Given the description of an element on the screen output the (x, y) to click on. 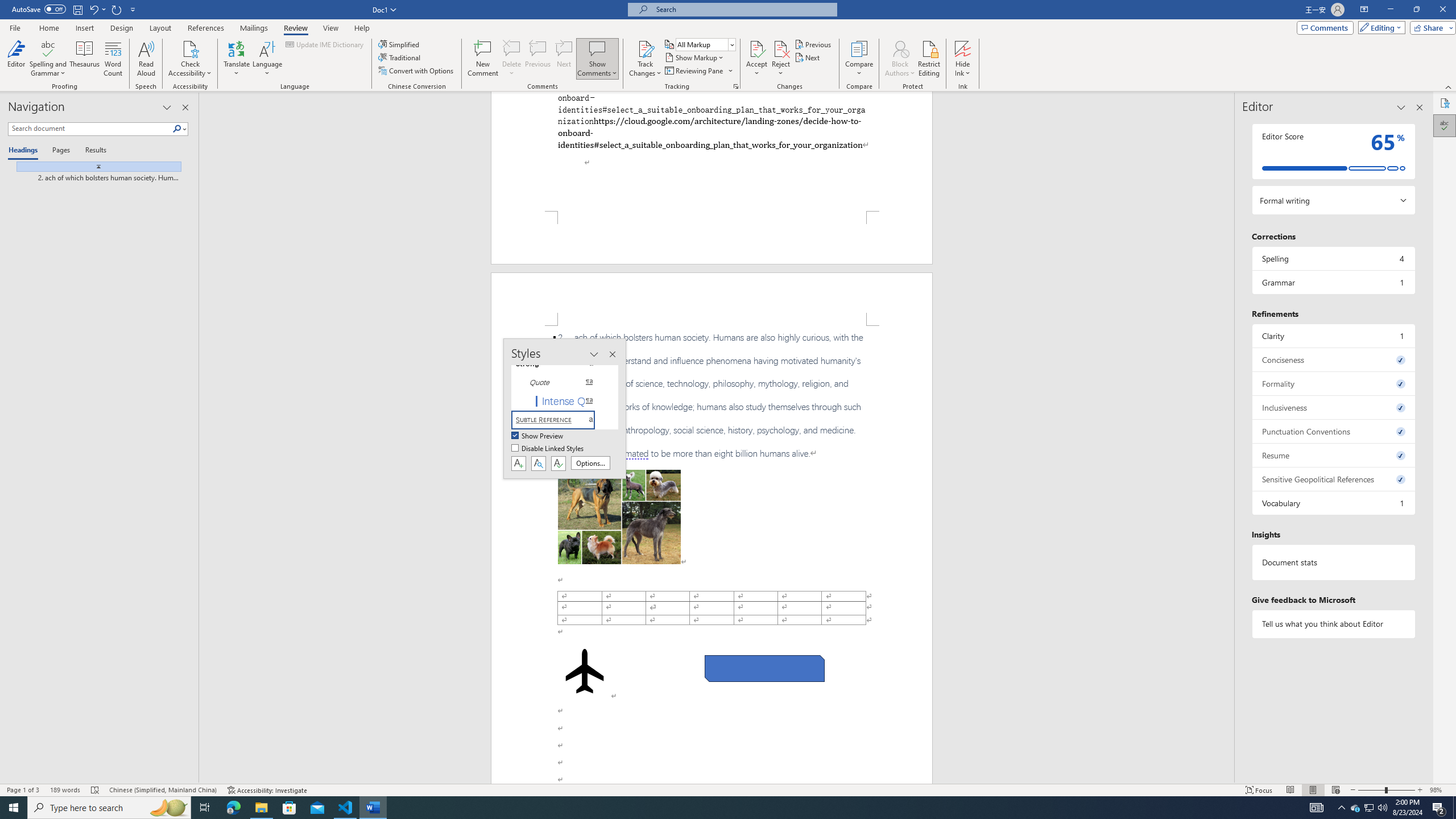
Thesaurus... (84, 58)
Language (267, 58)
Search (177, 128)
System (6, 6)
Spelling and Grammar Check Errors (94, 790)
Check Accessibility (189, 58)
Help (361, 28)
Accessibility Checker Accessibility: Investigate (266, 790)
Web Layout (1335, 790)
Zoom (1386, 790)
References (205, 28)
Resume, 0 issues. Press space or enter to review items. (1333, 454)
Change Tracking Options... (735, 85)
Class: NetUIImage (98, 166)
Focus  (1258, 790)
